Given the description of an element on the screen output the (x, y) to click on. 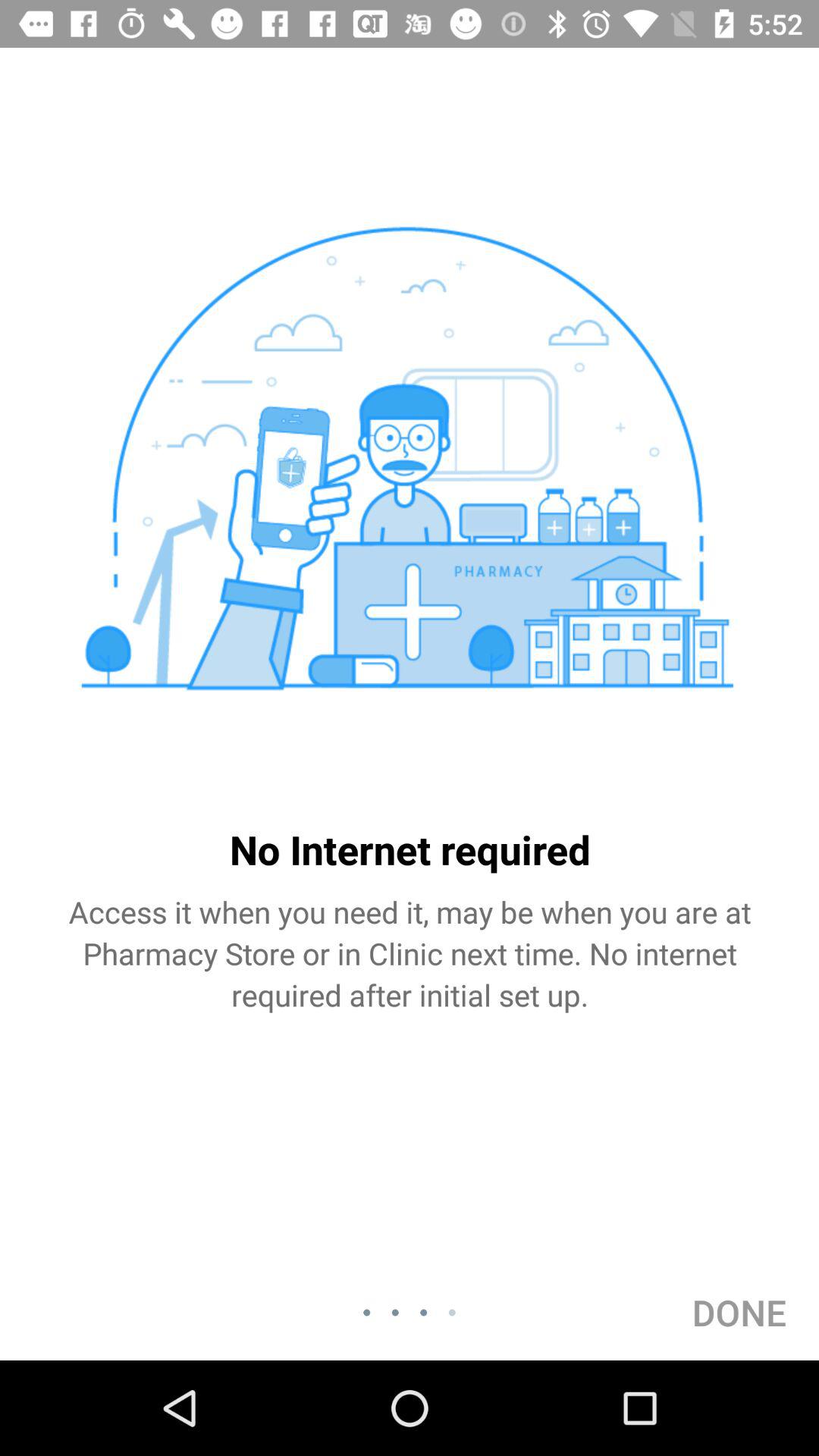
click done item (739, 1312)
